Given the description of an element on the screen output the (x, y) to click on. 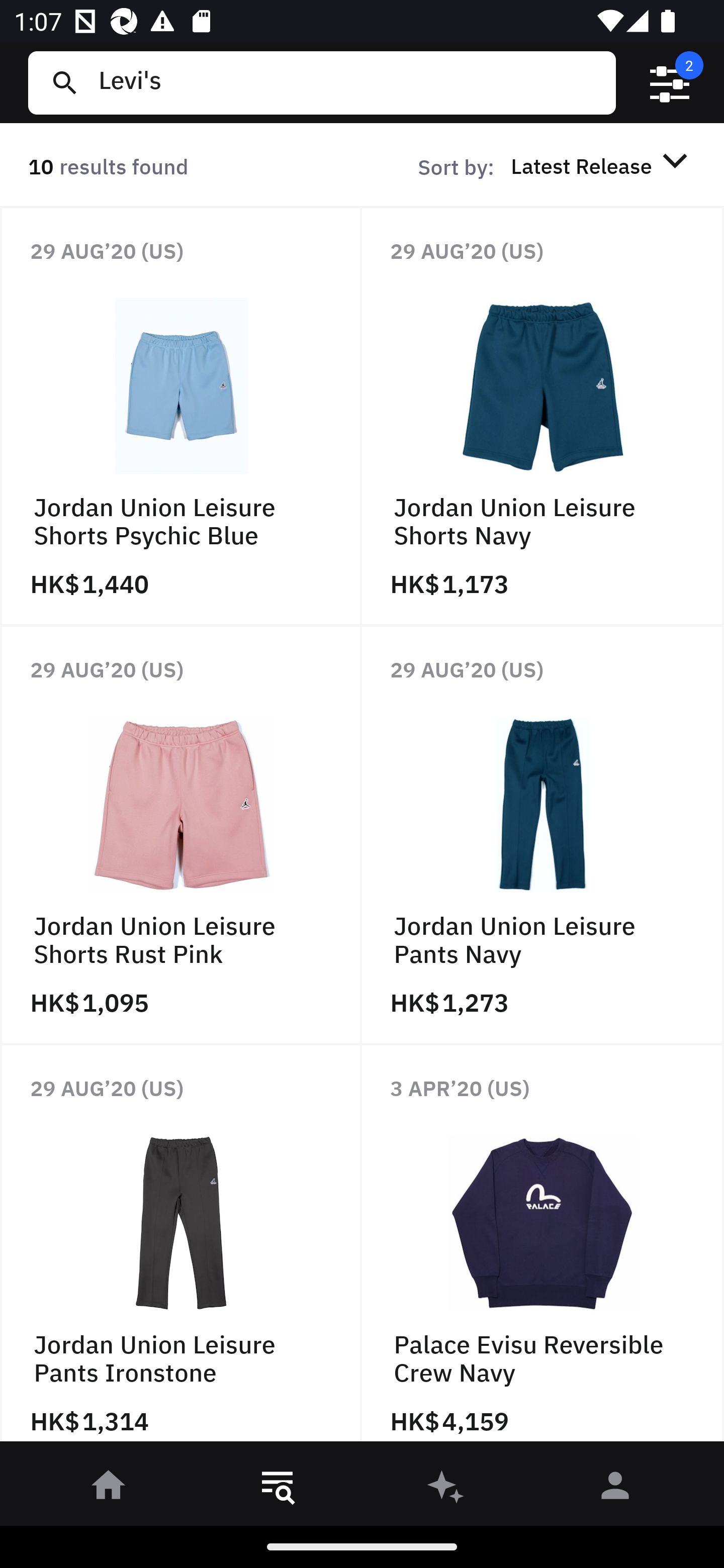
Levi's (349, 82)
 (669, 82)
Latest Release  (602, 165)
󰋜 (108, 1488)
󱎸 (277, 1488)
󰫢 (446, 1488)
󰀄 (615, 1488)
